Given the description of an element on the screen output the (x, y) to click on. 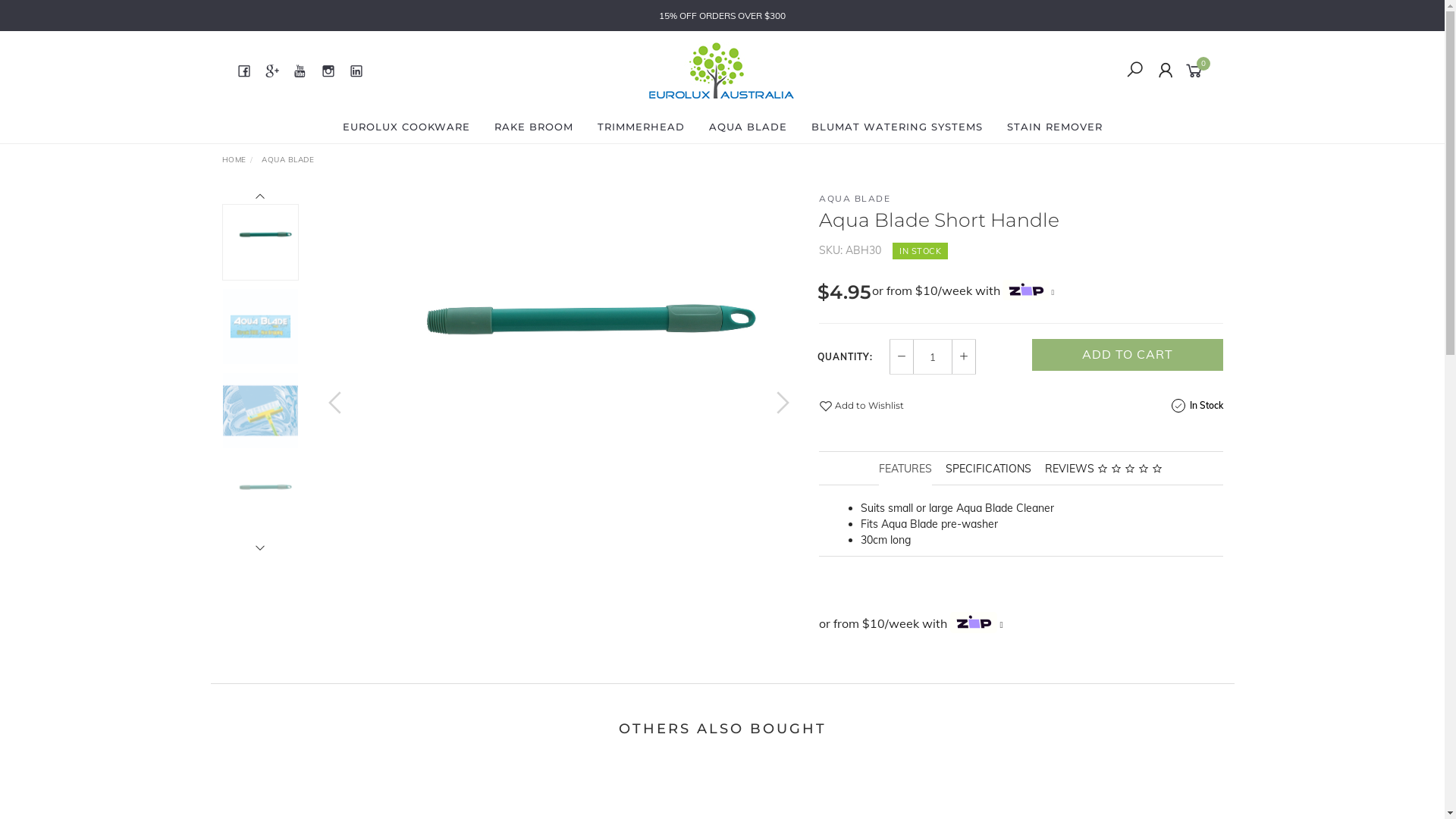
EUROLUX COOKWARE Element type: text (406, 126)
Large View Element type: hover (260, 494)
Large View Element type: hover (260, 410)
0 Element type: text (1196, 69)
STAIN REMOVER Element type: text (1054, 126)
Large View Element type: hover (558, 368)
Eurolux Australia Pty Ltd Element type: hover (720, 69)
Add to Wishlist Element type: text (861, 405)
ADD TO CART Element type: text (1127, 354)
AQUA BLADE Element type: text (746, 126)
Large View Element type: hover (260, 326)
AQUA BLADE Element type: text (854, 197)
BLUMAT WATERING SYSTEMS Element type: text (896, 126)
AQUA BLADE Element type: text (287, 159)
FEATURES Element type: text (904, 468)
SPECIFICATIONS Element type: text (988, 468)
REVIEWS Element type: text (1103, 468)
RAKE BROOM Element type: text (533, 126)
HOME Element type: text (233, 159)
TRIMMERHEAD Element type: text (640, 126)
